Given the description of an element on the screen output the (x, y) to click on. 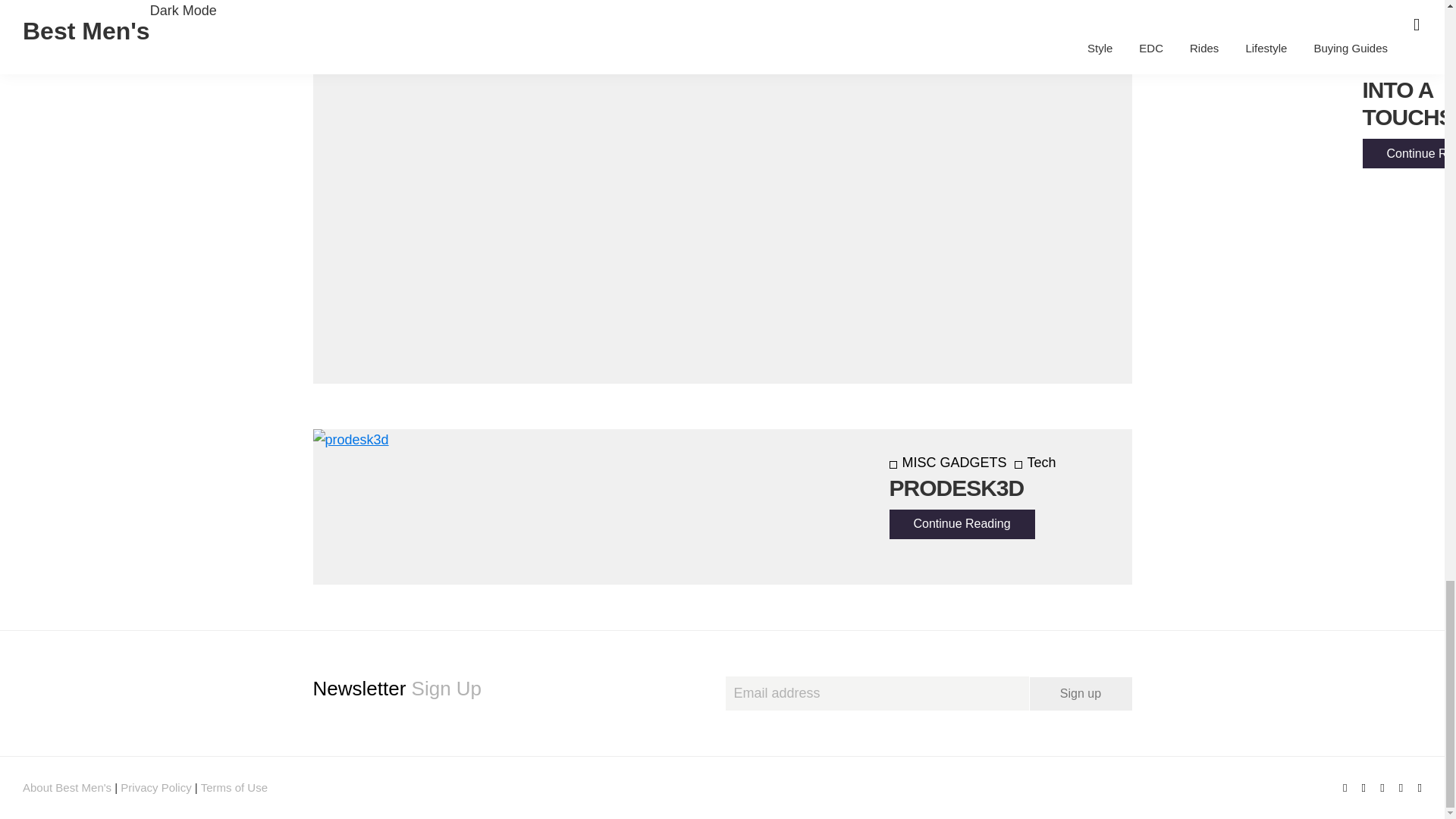
Continue Reading (960, 523)
Terms of Use (233, 787)
Continue Reading (1408, 153)
PRODESK3D (955, 487)
Sign up (1080, 693)
About Best Men's (67, 787)
Privacy Policy (155, 787)
MISC GADGETS (947, 462)
Tech (1408, 9)
Sign up (1080, 693)
